Given the description of an element on the screen output the (x, y) to click on. 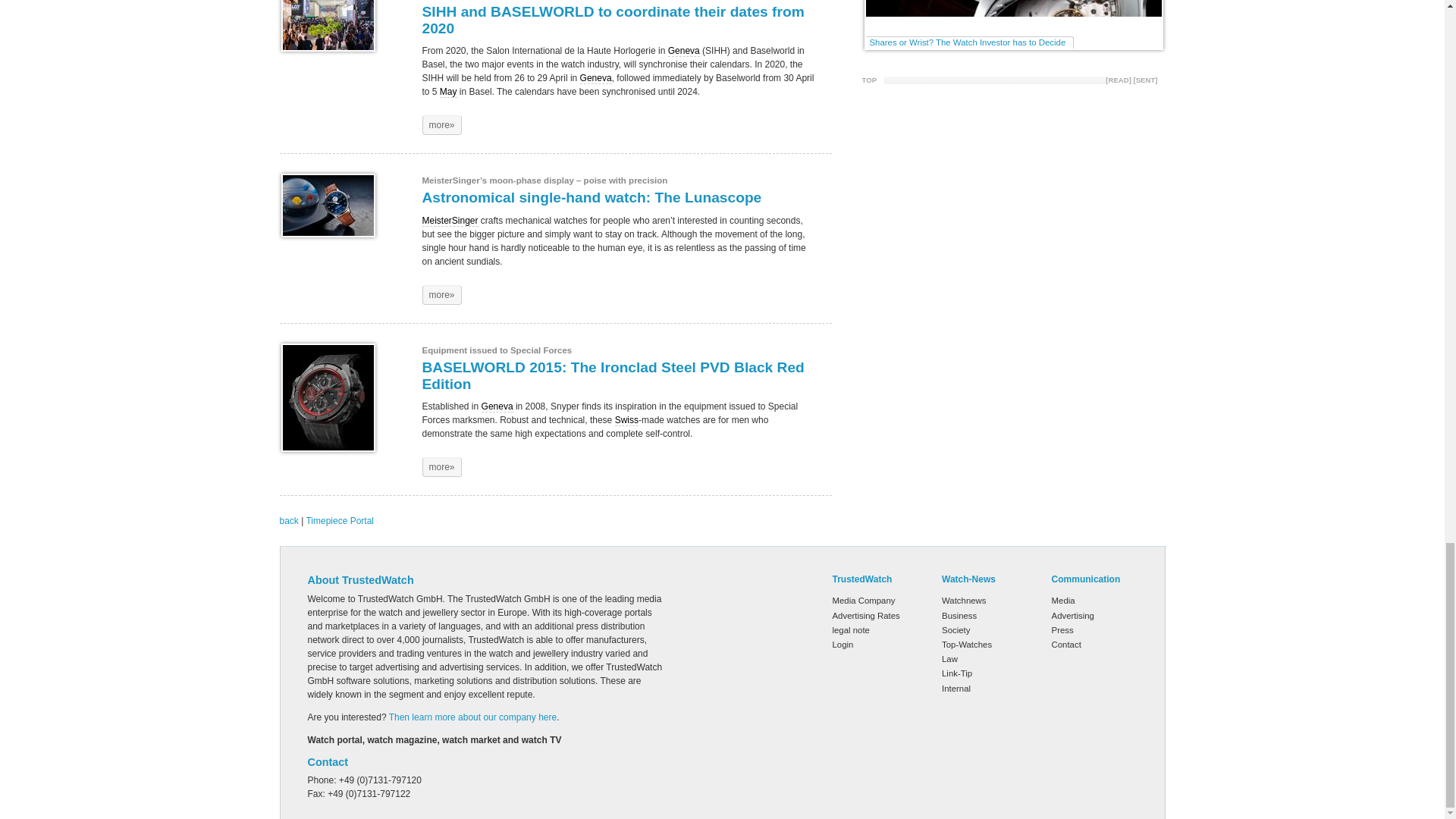
SIHH and BASELWORLD to coordinate their dates from 2020 (327, 25)
BASELWORLD 2015: The Ironclad Steel PVD Black Red Edition (441, 466)
Astronomical single-hand watch: The Lunascope (441, 294)
Astronomical single-hand watch: The Lunascope (327, 205)
SIHH and BASELWORLD to coordinate their dates from 2020 (441, 125)
